Given the description of an element on the screen output the (x, y) to click on. 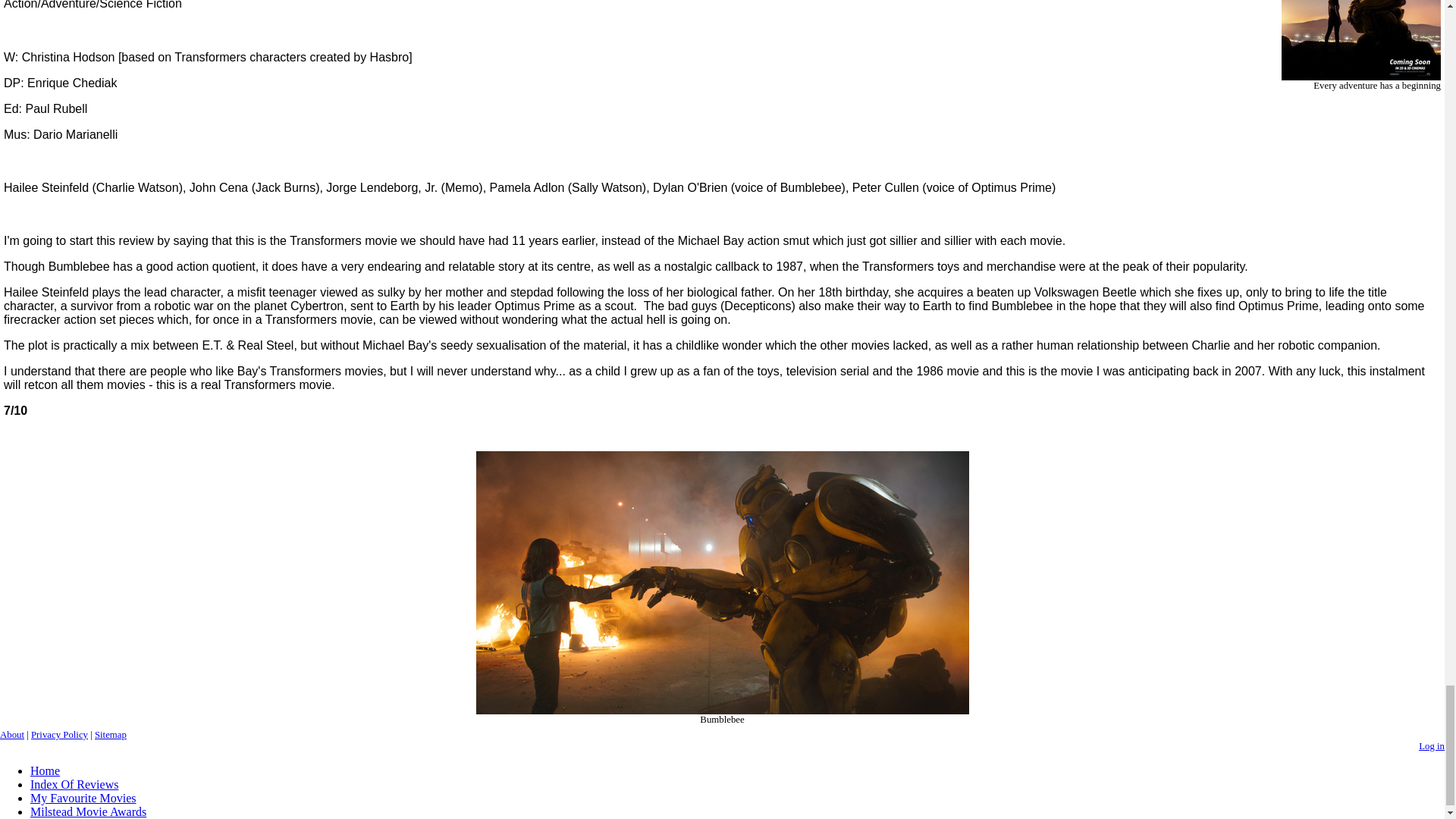
Home (44, 770)
Index Of Reviews (73, 784)
Privacy Policy (58, 734)
My Favourite Movies (83, 797)
Sitemap (110, 734)
Milstead Movie Awards (88, 811)
About (12, 734)
